Given the description of an element on the screen output the (x, y) to click on. 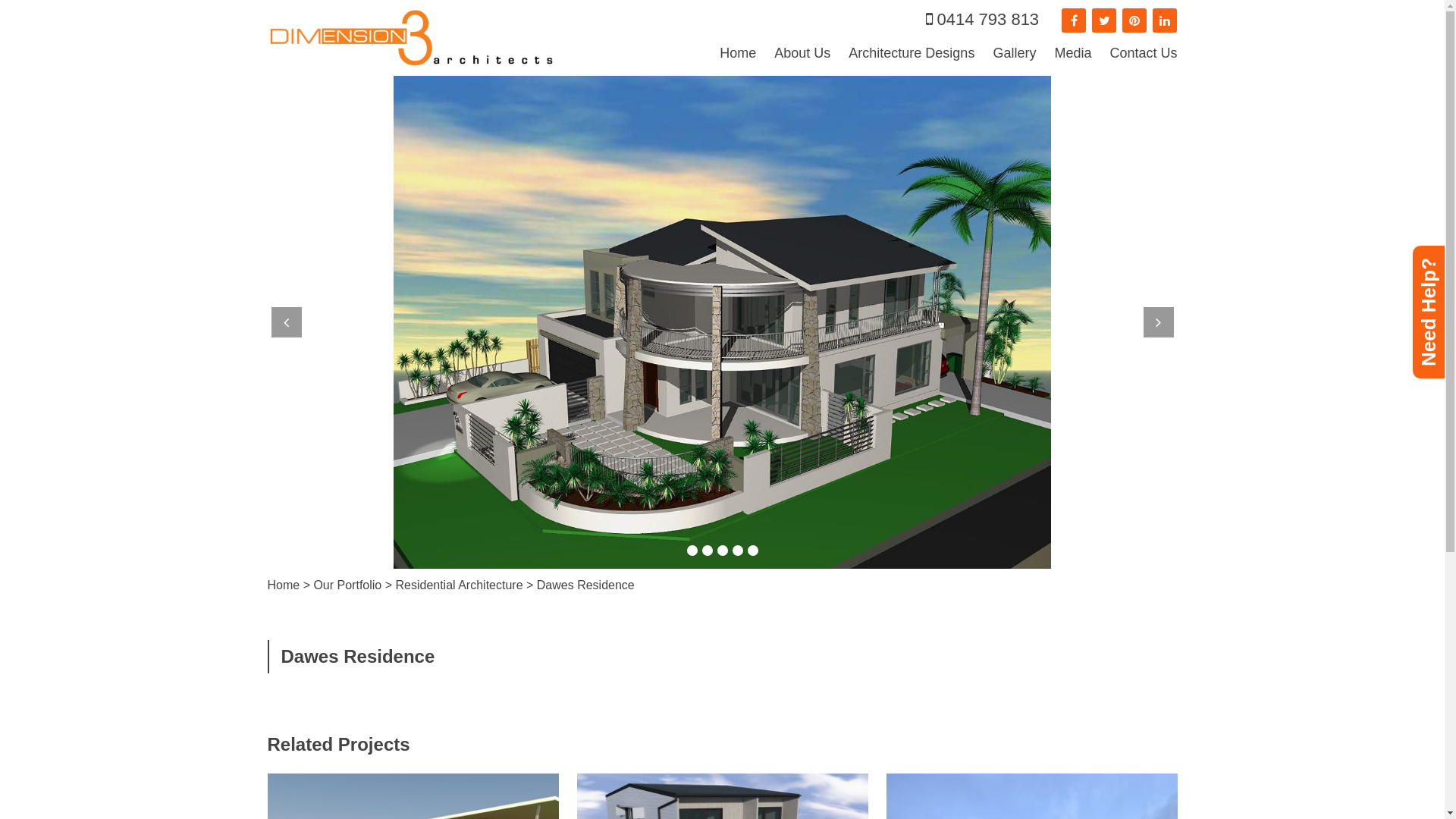
About Us Element type: text (802, 52)
Architecture Designs Element type: text (911, 52)
Our Portfolio Element type: text (347, 584)
 0414 793 813 Element type: text (982, 18)
Gallery Element type: text (1013, 52)
1 Element type: text (692, 550)
4 Element type: text (737, 550)
3 Element type: text (722, 550)
Home Element type: text (737, 52)
Residential Architecture Element type: text (458, 584)
Dimension3 Architects Element type: hover (410, 37)
5 Element type: text (752, 550)
Contact Us Element type: text (1142, 52)
2 Element type: text (707, 550)
Media Element type: text (1072, 52)
Home Element type: text (282, 584)
